Given the description of an element on the screen output the (x, y) to click on. 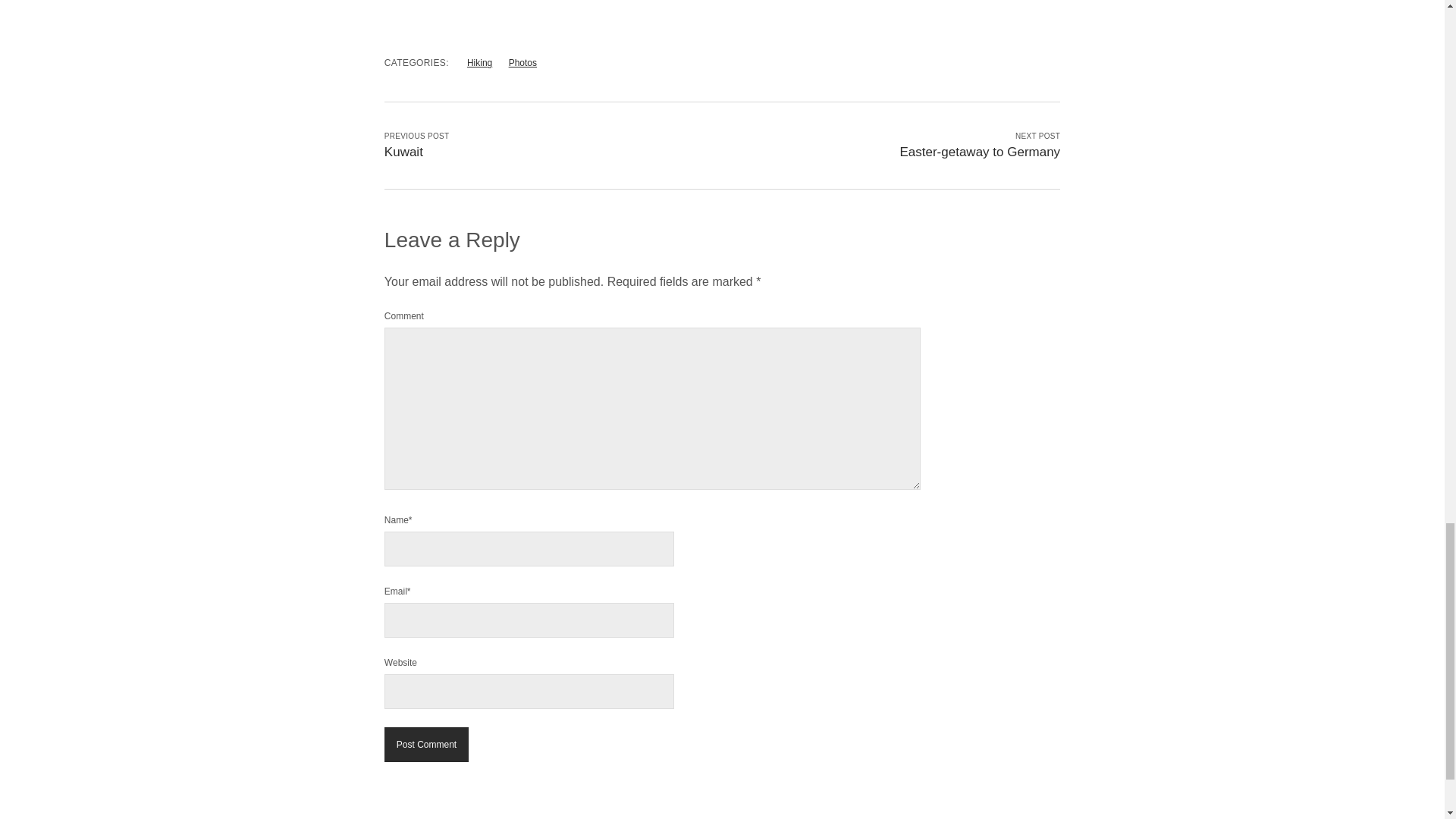
Easter-getaway to Germany (979, 151)
Post Comment (426, 744)
Post Comment (426, 744)
Hiking (479, 62)
Photos (522, 62)
Kuwait (403, 151)
